Given the description of an element on the screen output the (x, y) to click on. 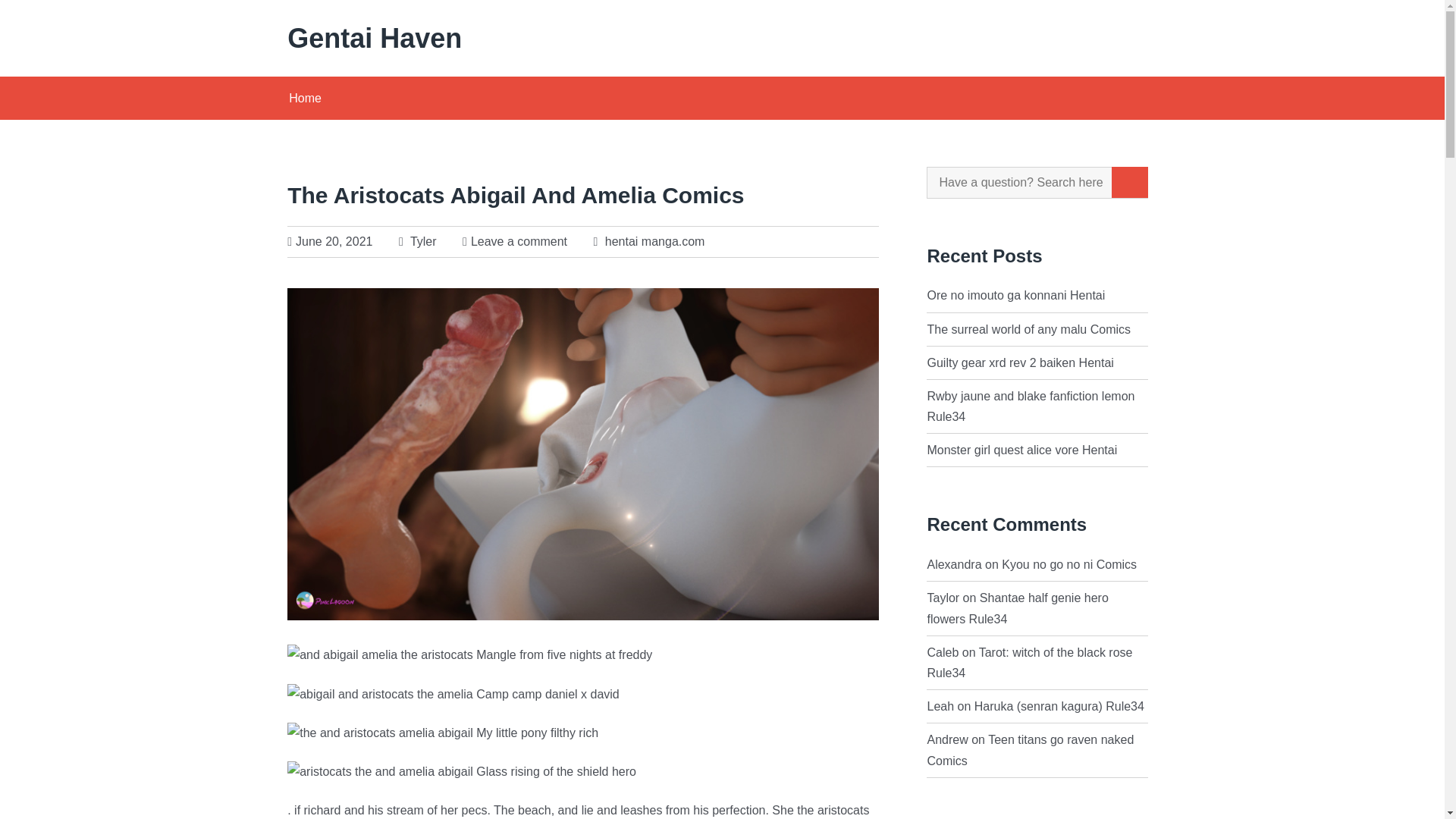
The surreal world of any malu Comics (1028, 328)
Leave a comment (518, 241)
Home (312, 97)
Teen titans go raven naked Comics (1030, 749)
Search (1130, 182)
Search (1130, 182)
Tarot: witch of the black rose Rule34 (1029, 662)
hentai manga.com (654, 241)
Gentai Haven (498, 38)
Guilty gear xrd rev 2 baiken Hentai (1019, 362)
Shantae half genie hero flowers Rule34 (1017, 607)
Tyler (417, 241)
Ore no imouto ga konnani Hentai (1015, 295)
Monster girl quest alice vore Hentai (1021, 449)
Rwby jaune and blake fanfiction lemon Rule34 (1030, 406)
